Given the description of an element on the screen output the (x, y) to click on. 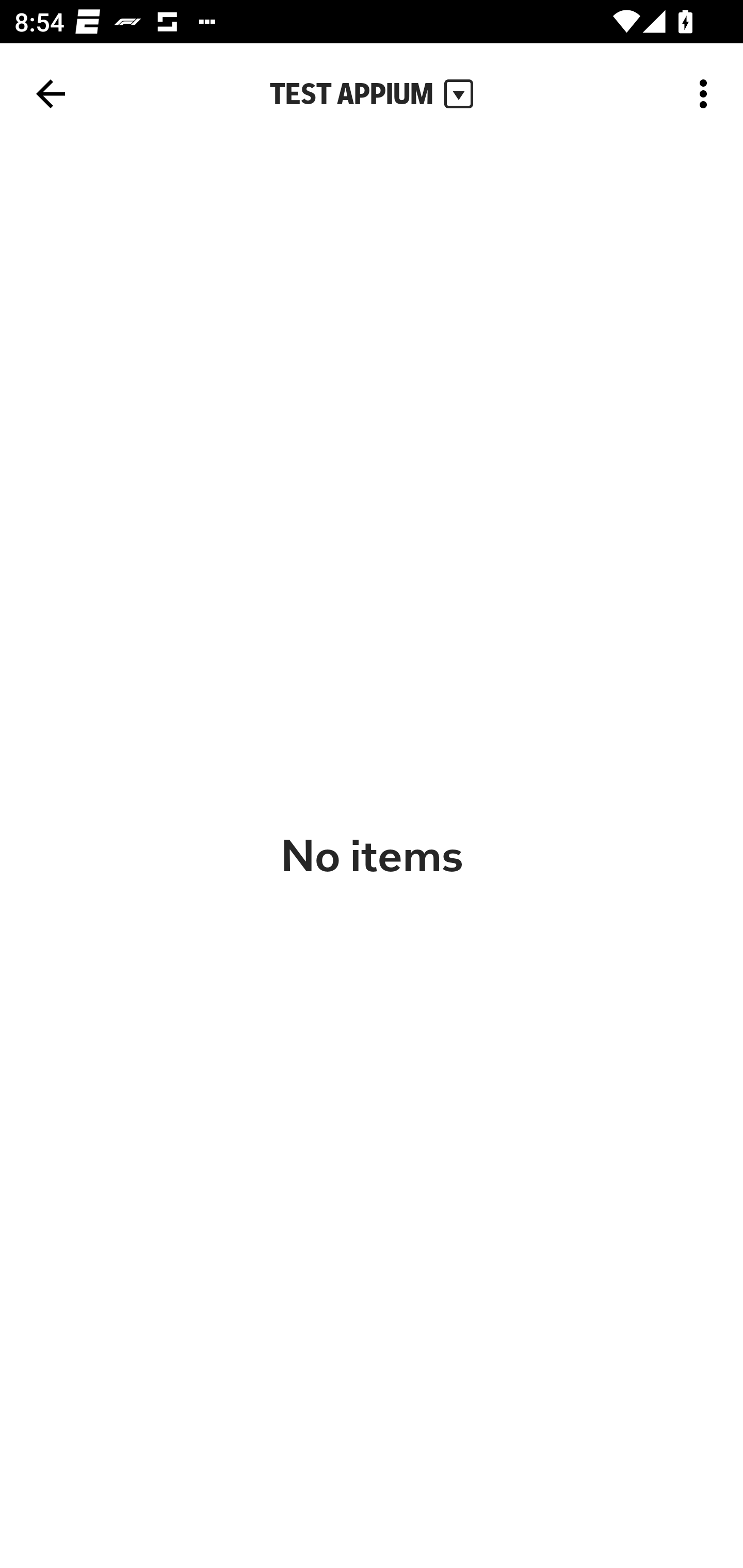
Back (50, 93)
TEST APPIUM (371, 93)
More options (706, 93)
